Given the description of an element on the screen output the (x, y) to click on. 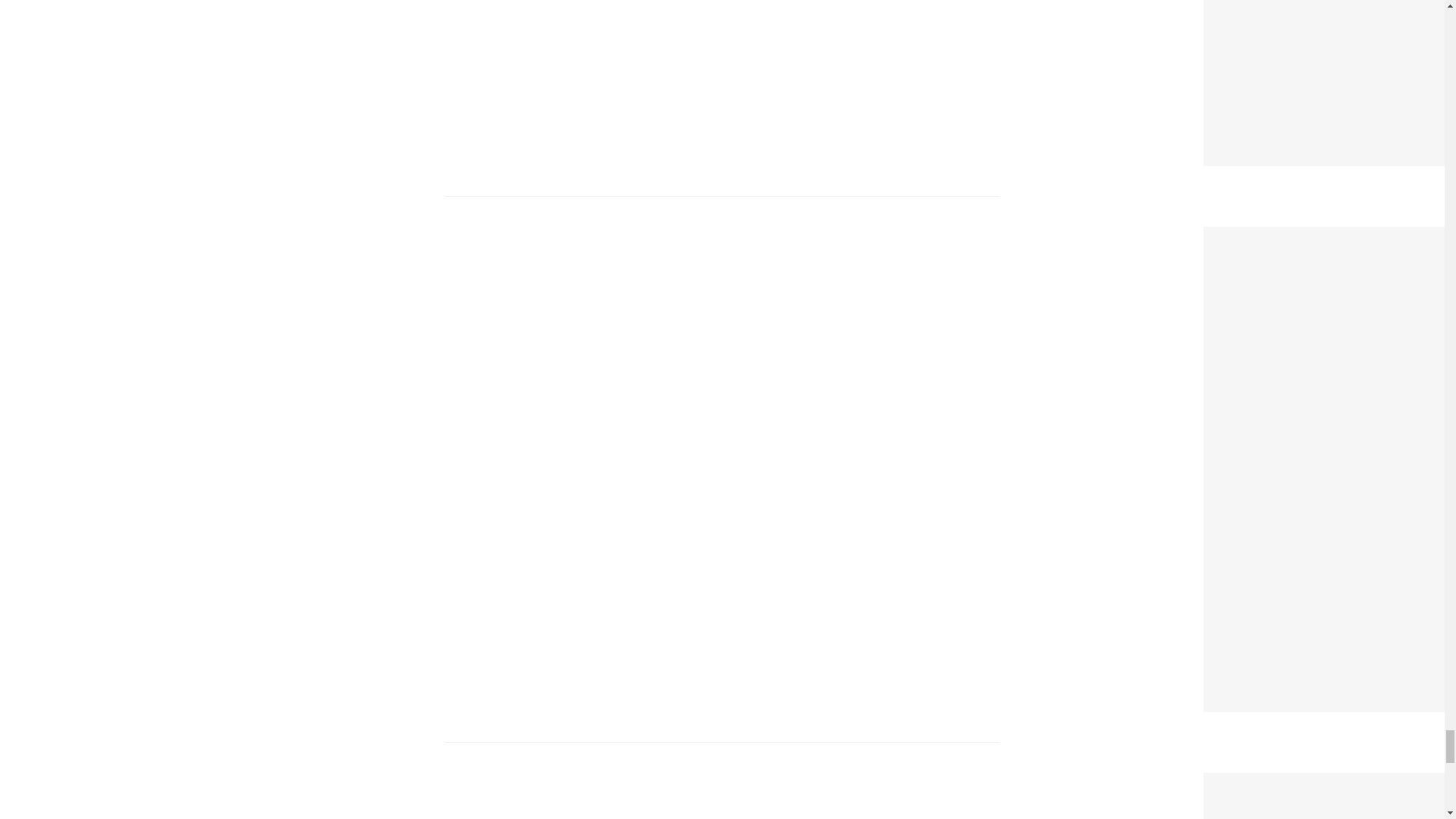
Hanging Flower Plants At Home Depot (1327, 236)
Rustic Garden Art Ideas (1281, 782)
